Given the description of an element on the screen output the (x, y) to click on. 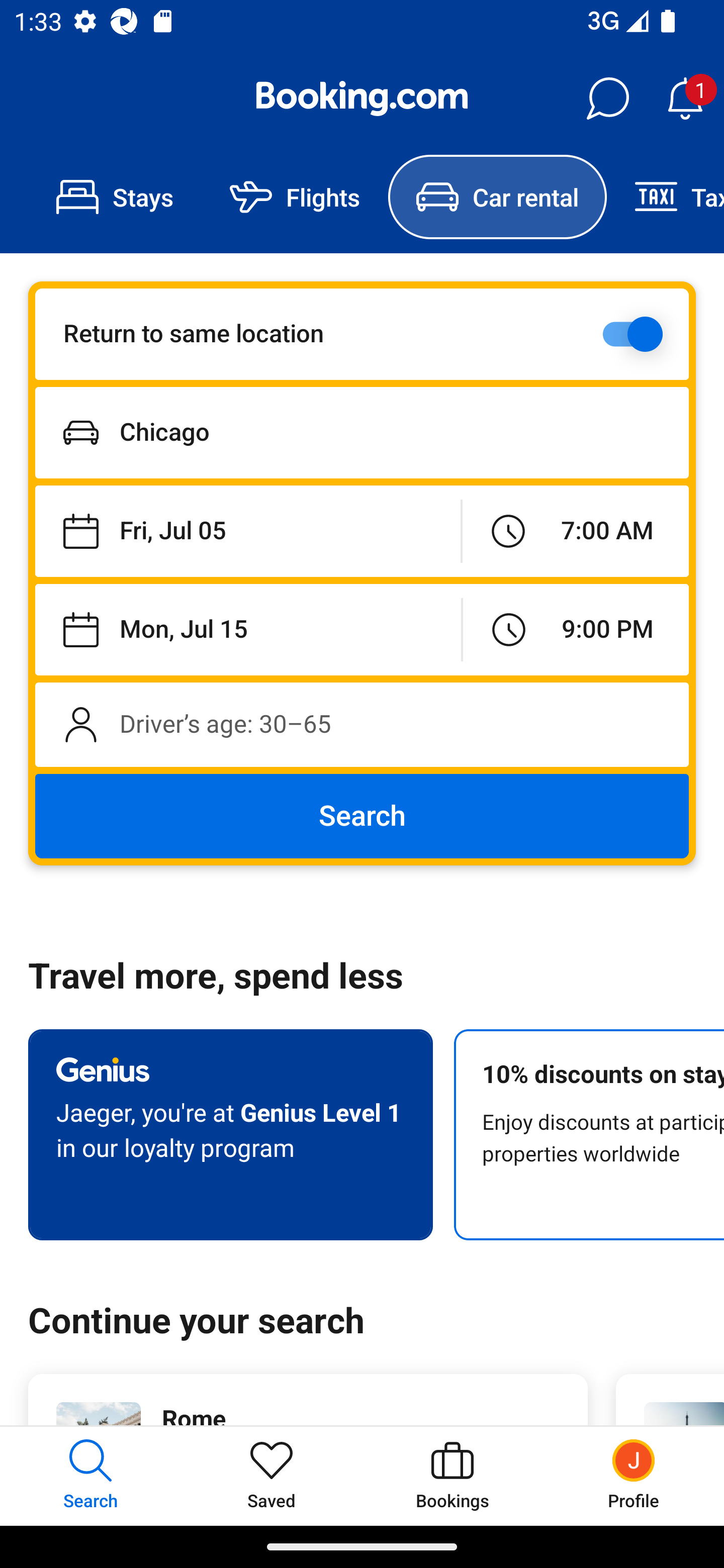
Messages (607, 98)
Notifications (685, 98)
Stays (114, 197)
Flights (294, 197)
Car rental (497, 197)
Taxi (665, 197)
Pick-up location: Text(name=Chicago) (361, 432)
Pick-up date: 2024-07-05 (247, 531)
Pick-up time: 07:00:00.000 (575, 531)
Drop-off date: 2024-07-15 (248, 629)
Drop-off time: 21:00:00.000 (575, 629)
Enter the driver's age (361, 724)
Search (361, 815)
Saved (271, 1475)
Bookings (452, 1475)
Profile (633, 1475)
